Given the description of an element on the screen output the (x, y) to click on. 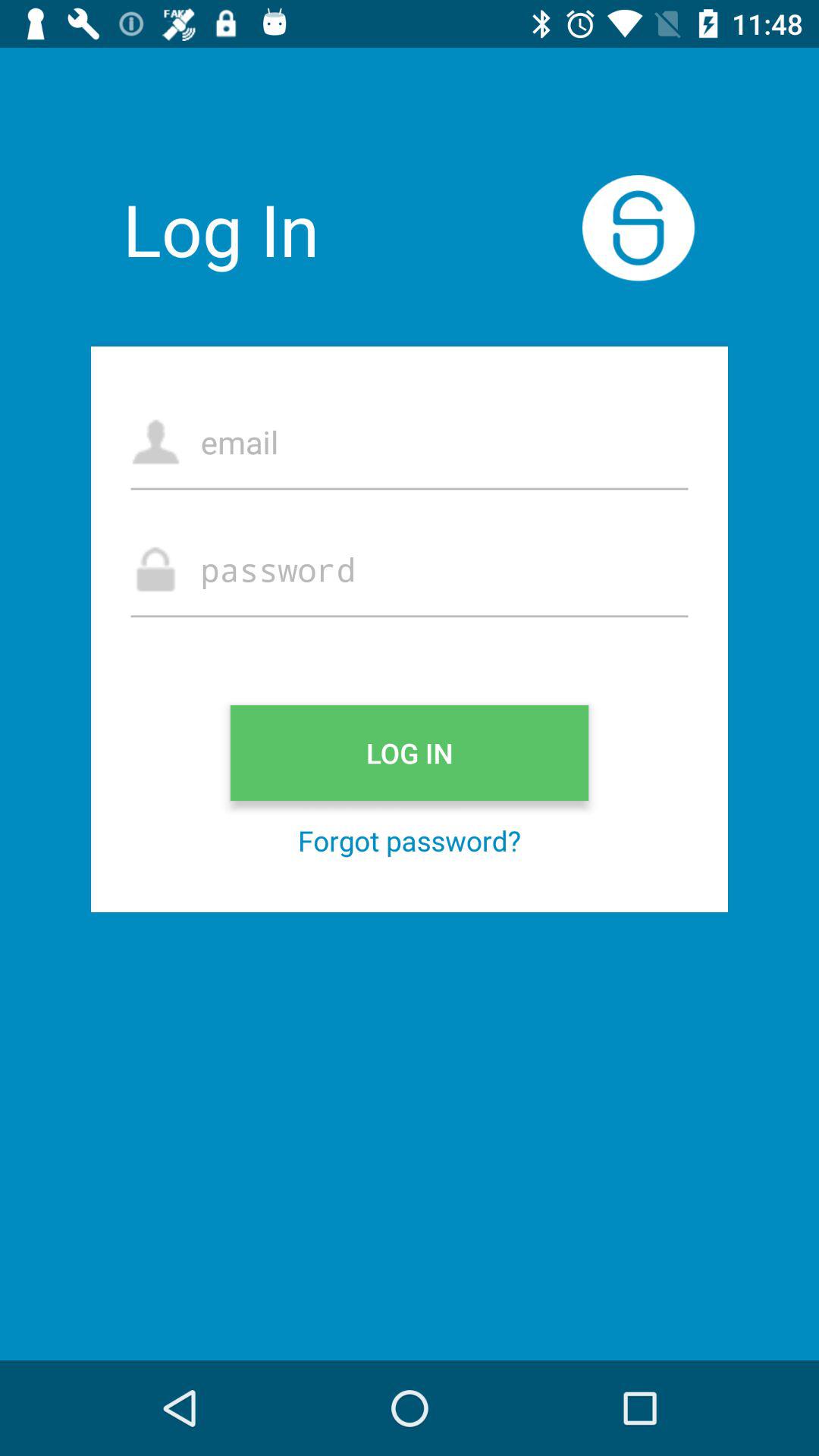
enter email (409, 441)
